Given the description of an element on the screen output the (x, y) to click on. 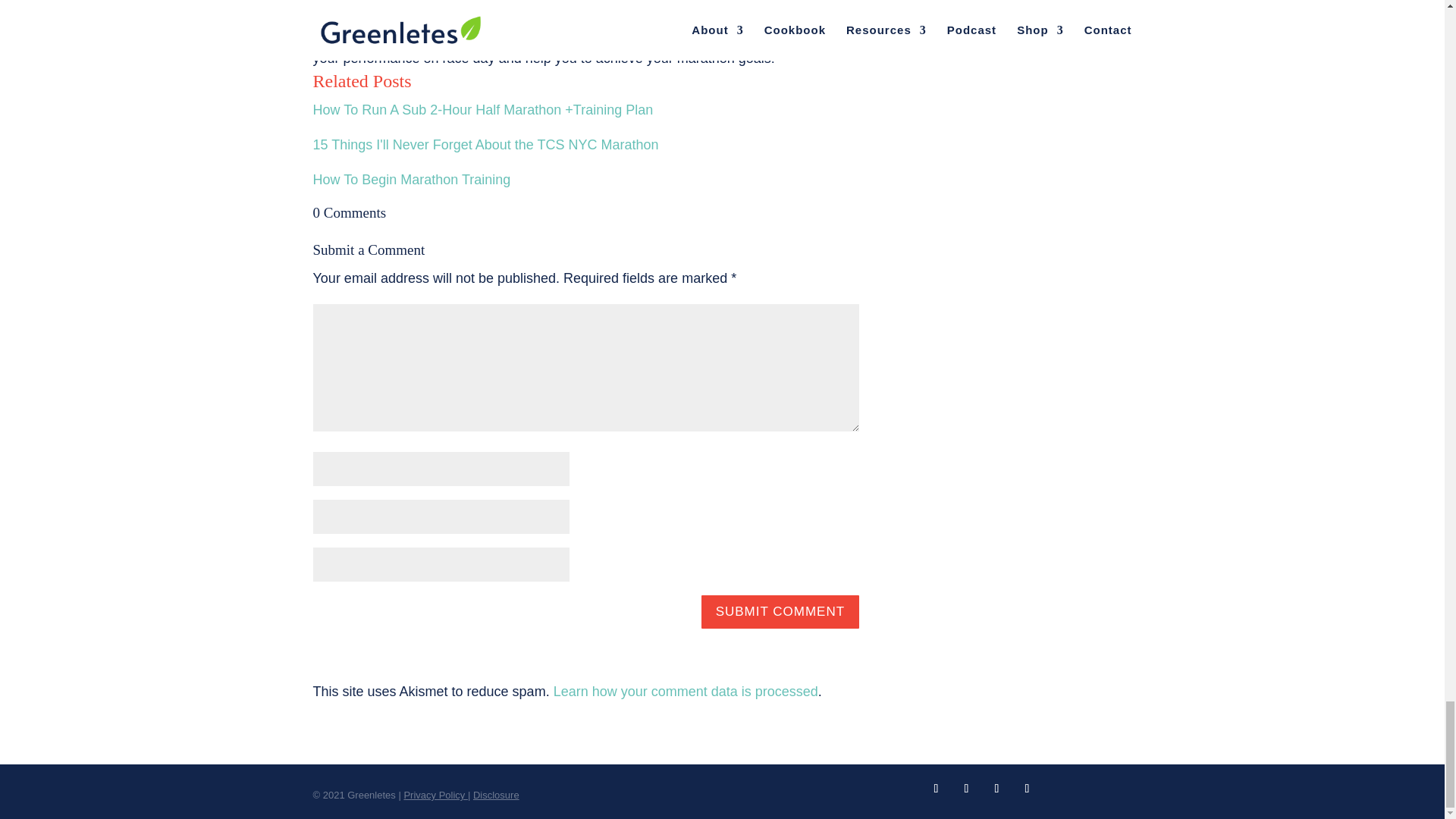
15 Things I'll Never Forget About the TCS NYC Marathon (485, 144)
Follow on Instagram (1026, 788)
Follow on Facebook (935, 788)
How To Begin Marathon Training (412, 179)
SUBMIT COMMENT (780, 611)
Learn how your comment data is processed (685, 691)
Follow on Youtube (965, 788)
Follow on Pinterest (996, 788)
